Given the description of an element on the screen output the (x, y) to click on. 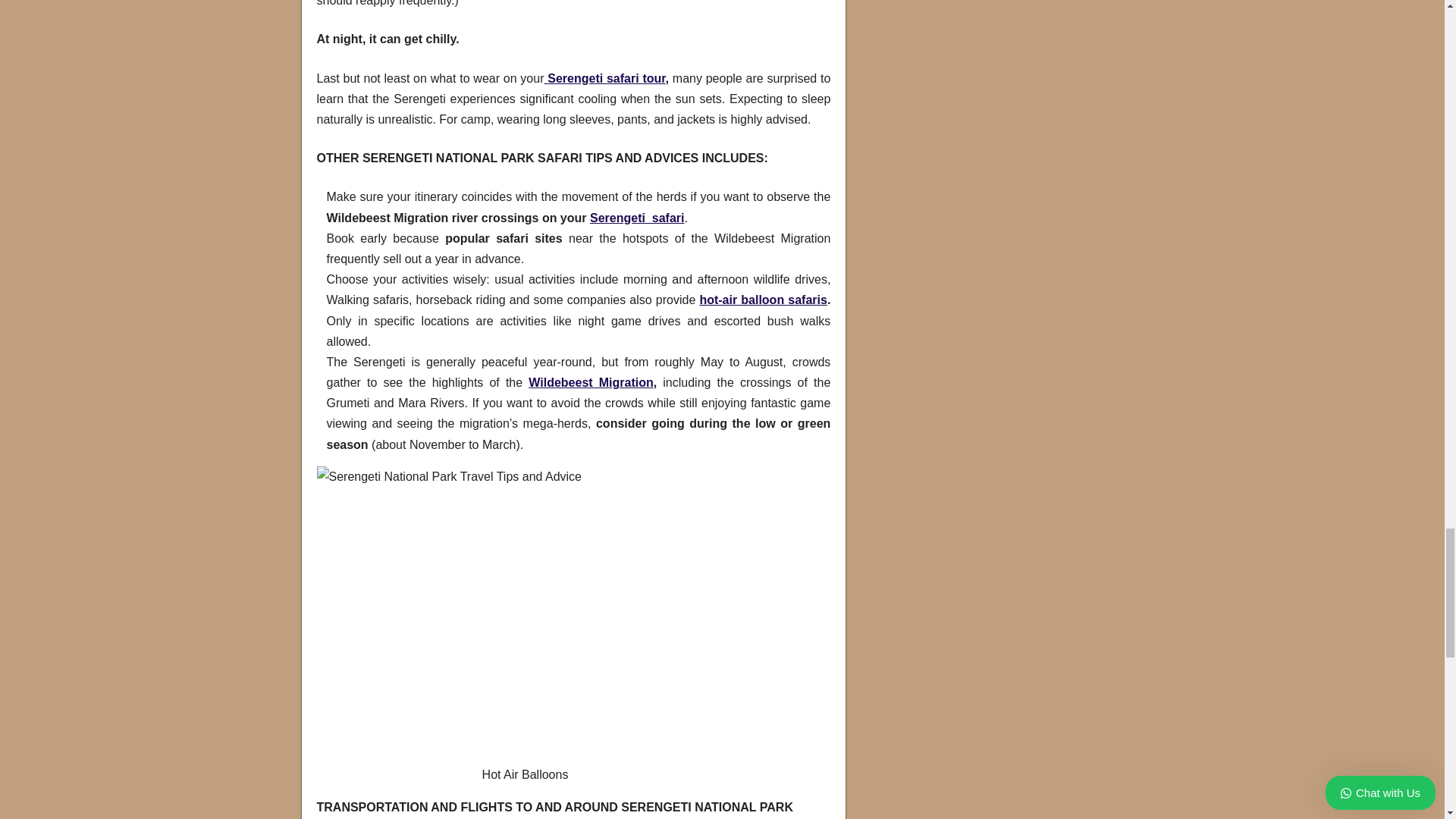
hot-air balloon safaris (762, 299)
Serengeti  safari (636, 217)
Wildebeest Migration (590, 382)
Serengeti safari tour (604, 78)
